Given the description of an element on the screen output the (x, y) to click on. 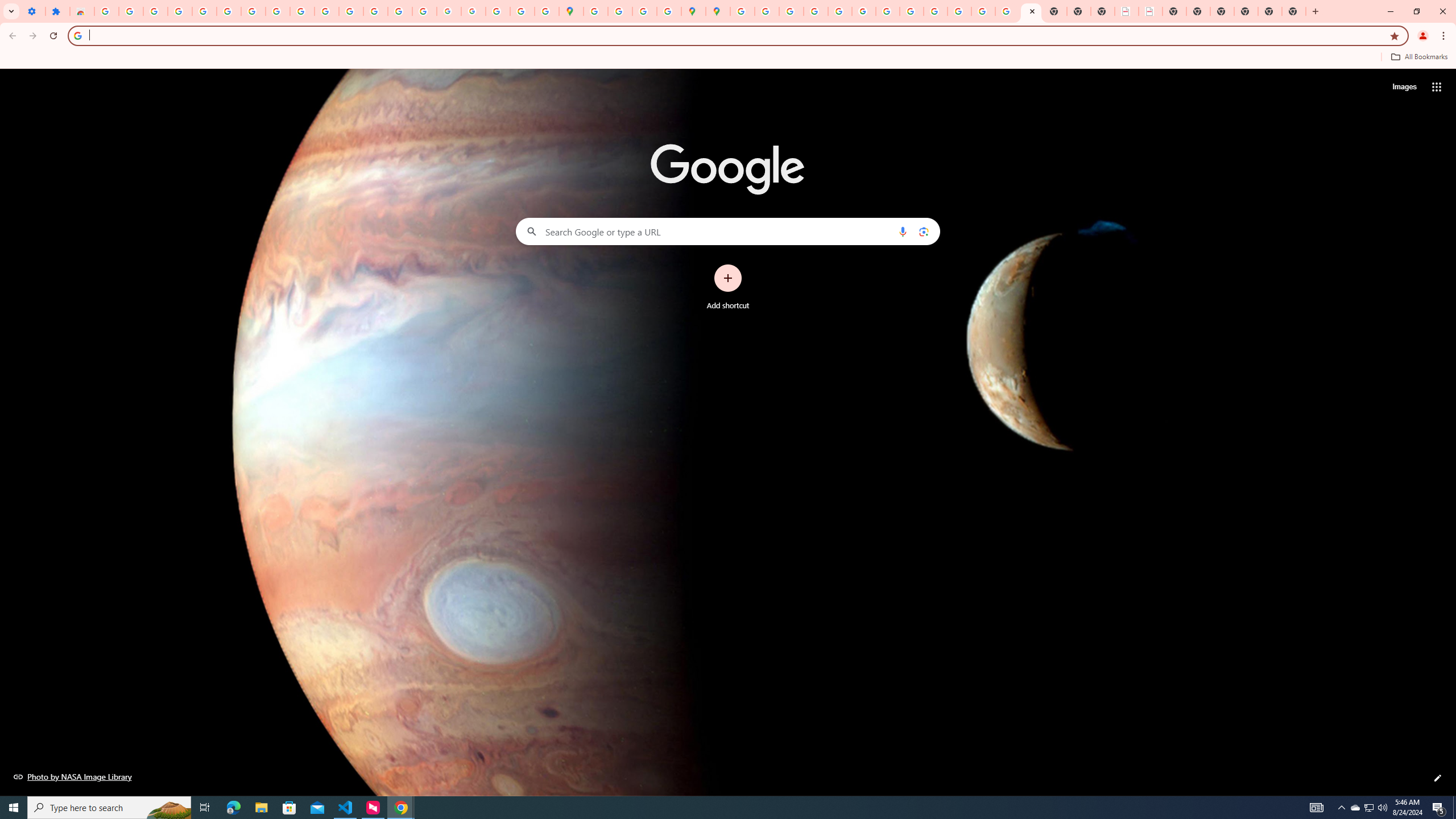
Sign in - Google Accounts (105, 11)
New Tab (1293, 11)
New Tab (1222, 11)
Privacy Help Center - Policies Help (814, 11)
Reviews: Helix Fruit Jump Arcade Game (82, 11)
https://scholar.google.com/ (350, 11)
